Given the description of an element on the screen output the (x, y) to click on. 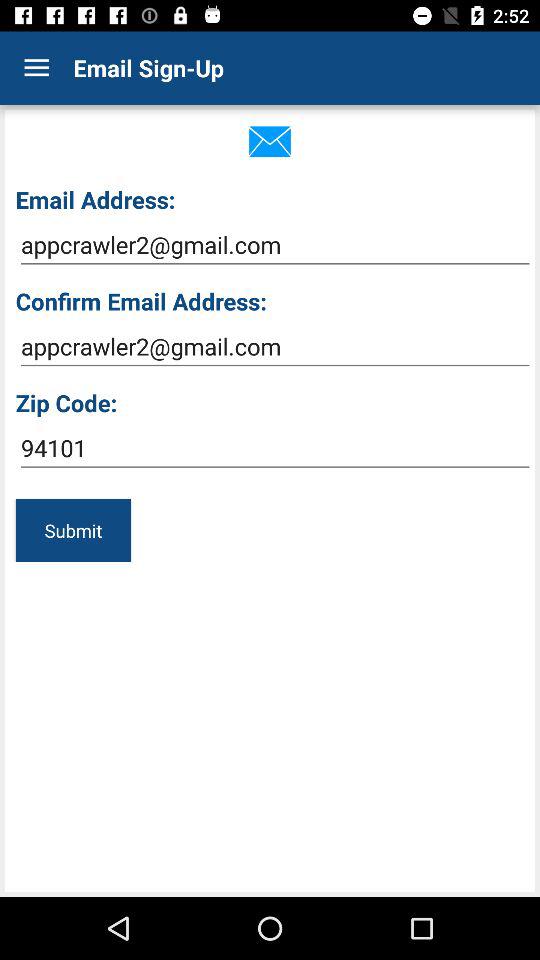
select the icon above submit item (274, 448)
